Given the description of an element on the screen output the (x, y) to click on. 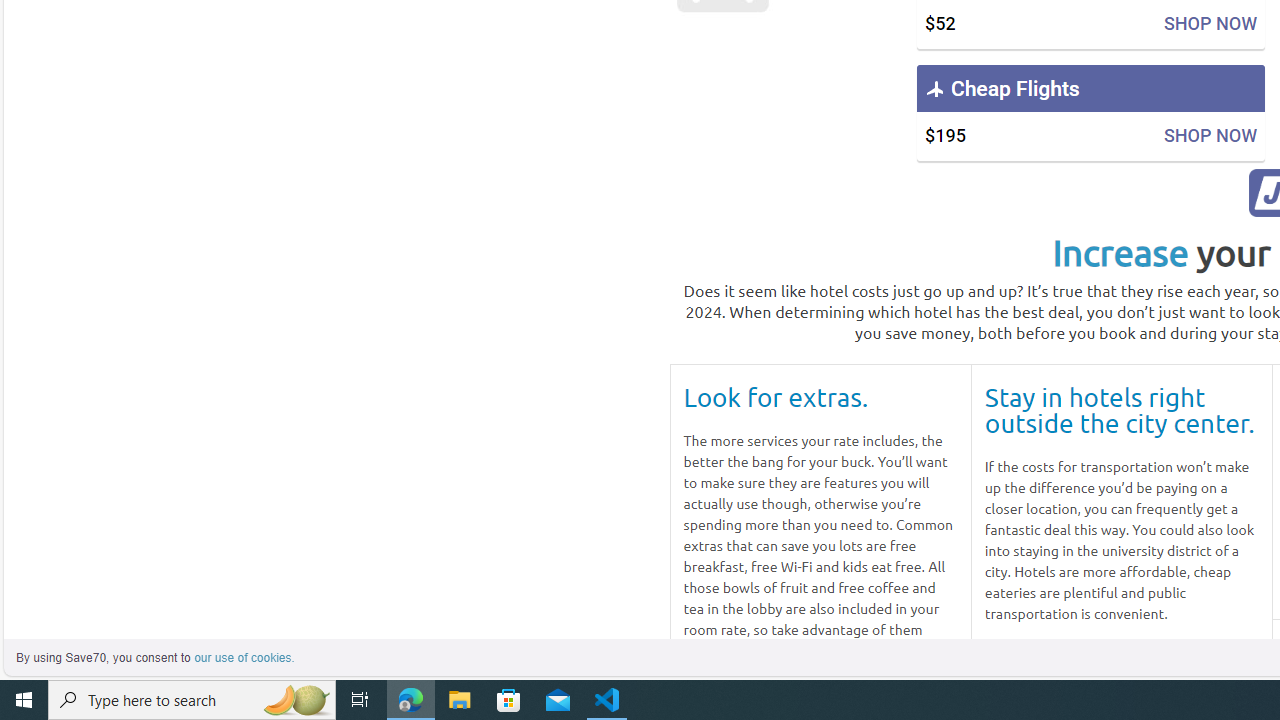
Cheap Flights $195 SHOP NOW (1090, 112)
learn more about cookies (244, 657)
